Given the description of an element on the screen output the (x, y) to click on. 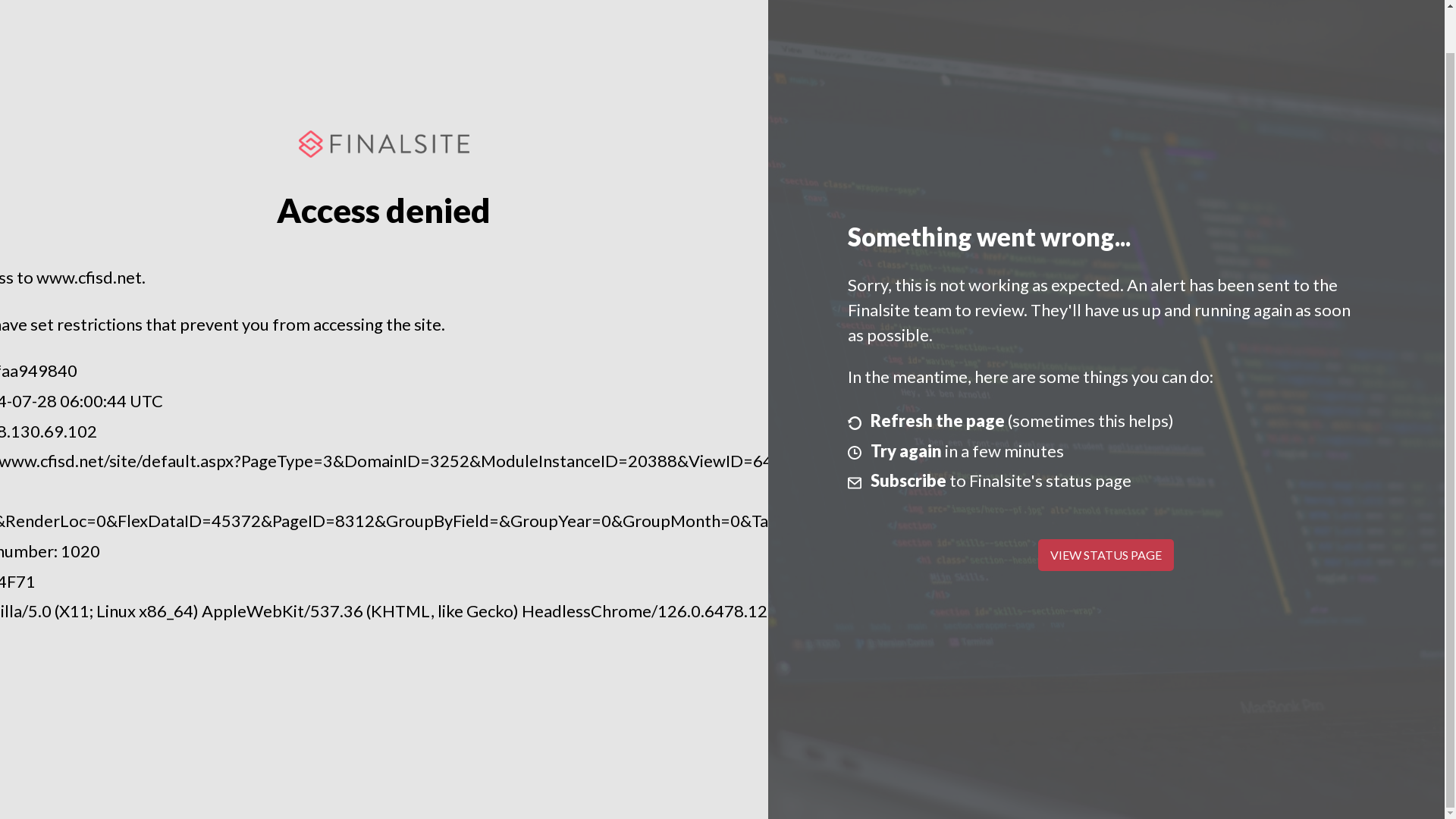
VIEW STATUS PAGE (1105, 554)
